Given the description of an element on the screen output the (x, y) to click on. 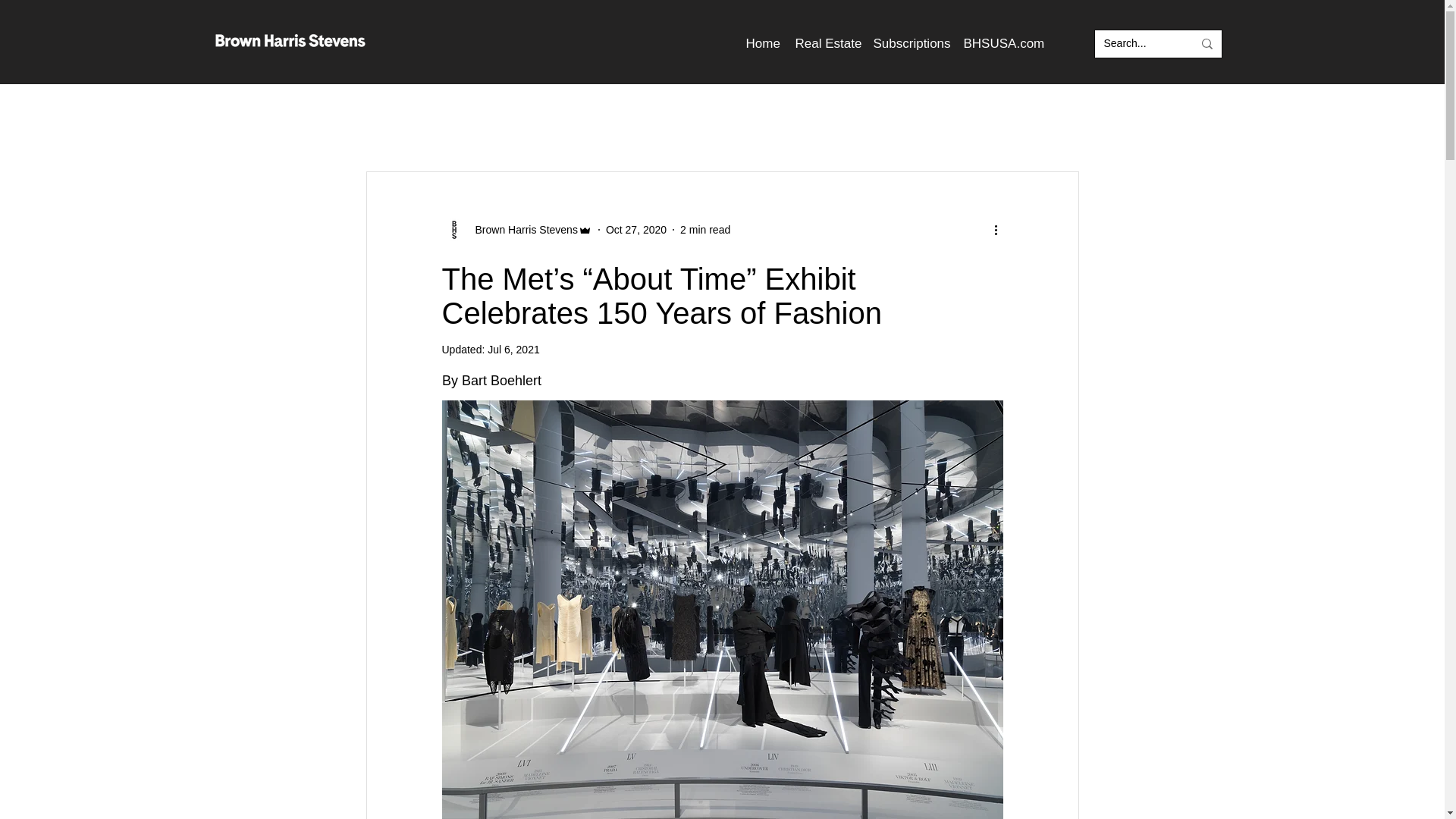
Real Estate (825, 43)
Brown Harris Stevens (520, 229)
Oct 27, 2020 (635, 228)
Home (762, 43)
Jul 6, 2021 (513, 349)
2 min read (704, 228)
Brown Harris Stevens (516, 229)
BHSUSA.com (1000, 43)
Subscriptions (911, 43)
